Given the description of an element on the screen output the (x, y) to click on. 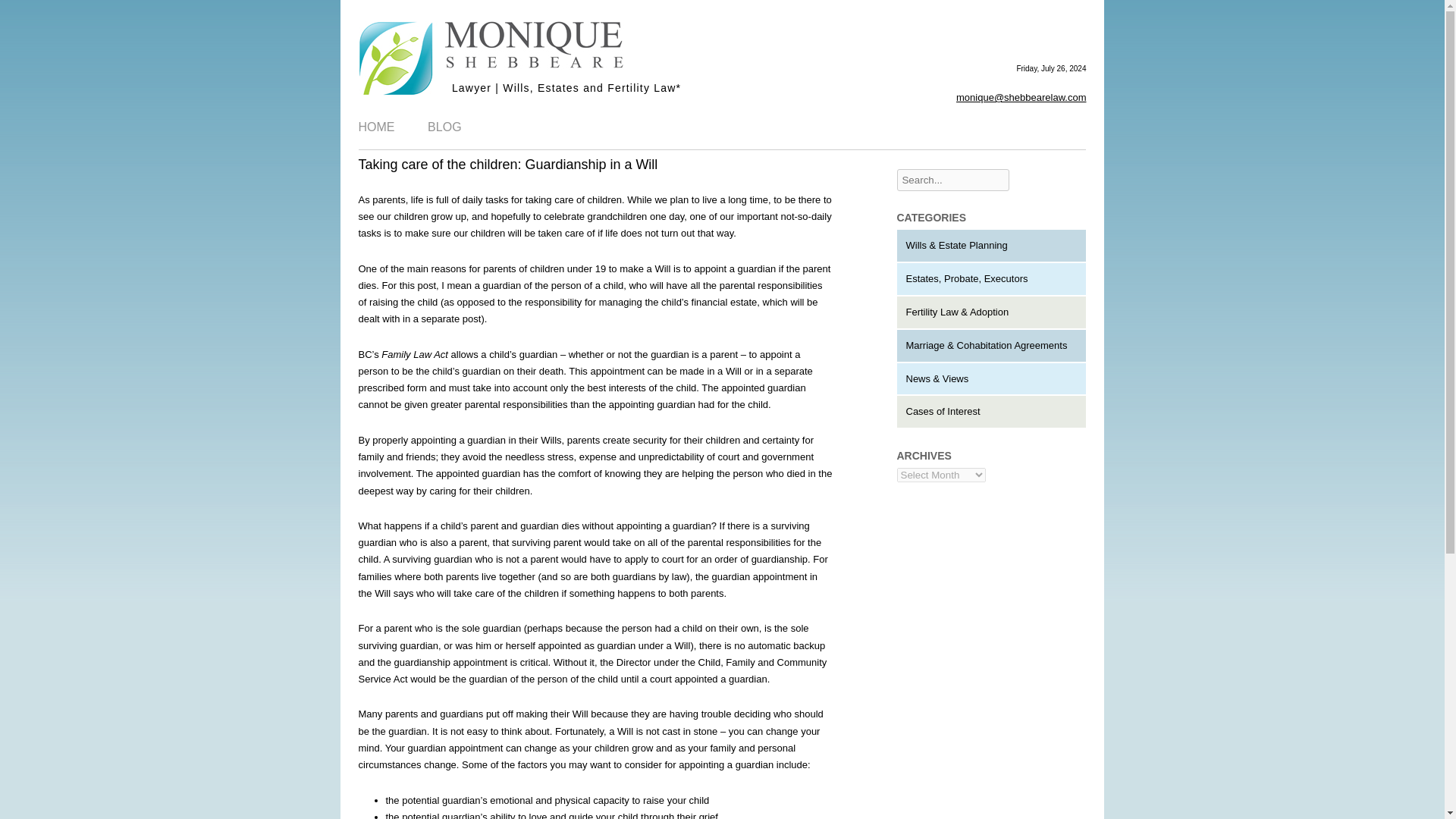
Skip to content (754, 110)
Estates, Probate, Executors (966, 278)
Skip to content (754, 110)
HOME (376, 126)
BLOG (444, 126)
Cases of Interest (942, 410)
Search (21, 11)
